Given the description of an element on the screen output the (x, y) to click on. 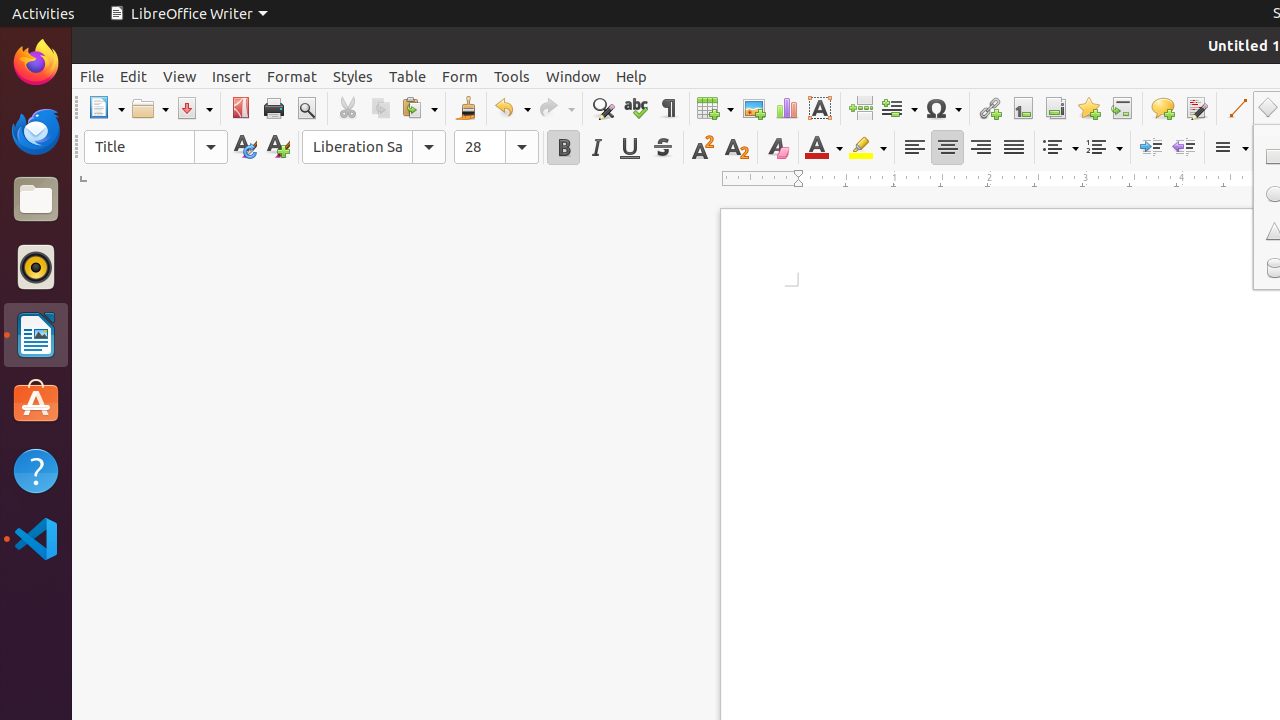
Numbering Element type: push-button (1104, 147)
Table Element type: push-button (715, 108)
Formatting Marks Element type: toggle-button (668, 108)
Thunderbird Mail Element type: push-button (36, 131)
Copy Element type: push-button (380, 108)
